Given the description of an element on the screen output the (x, y) to click on. 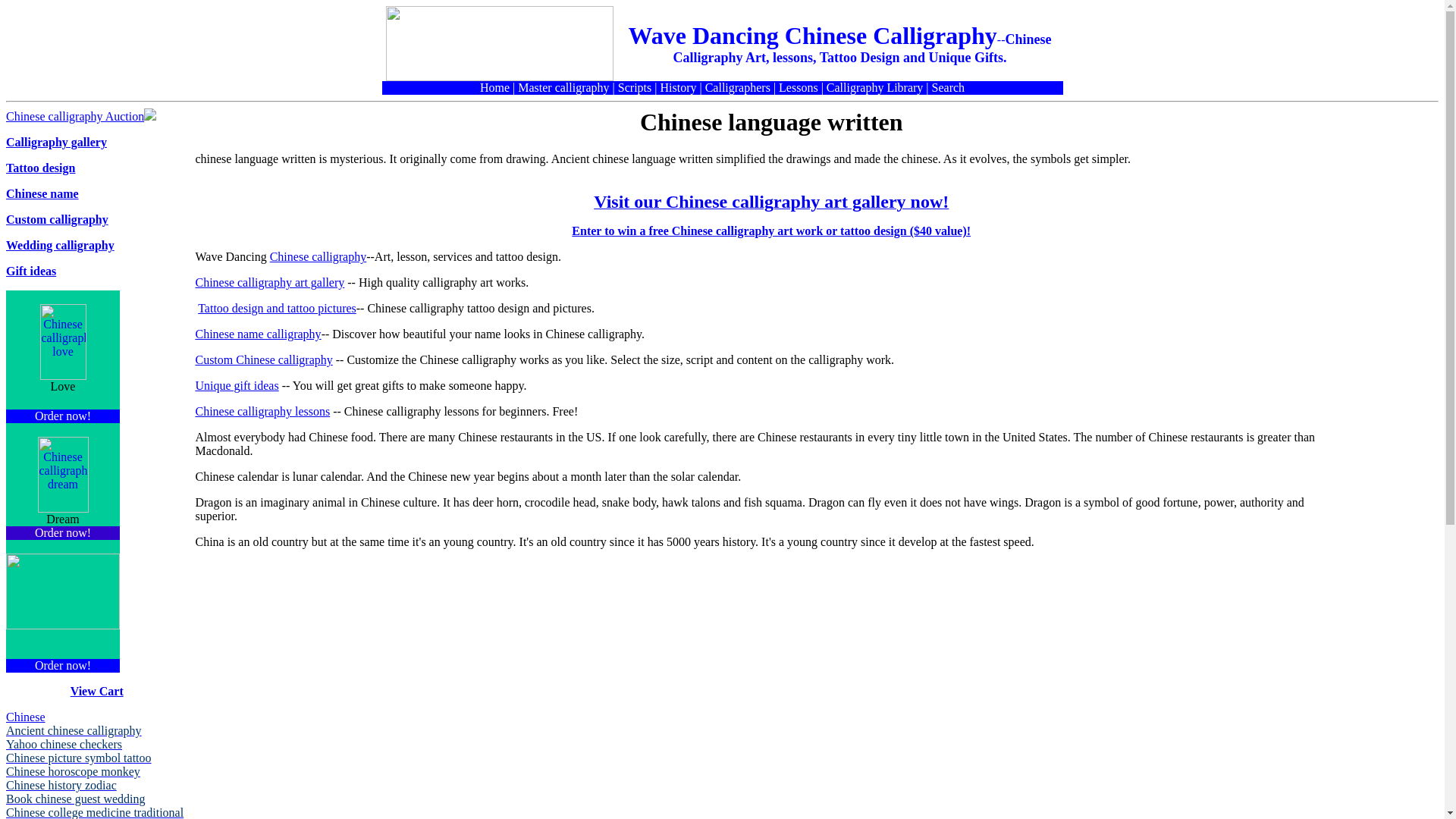
Yahoo chinese checkers (63, 744)
Chinese horoscope monkey (72, 771)
Chinese history zodiac (60, 784)
History (677, 87)
Order now! (62, 532)
Chinese name (41, 193)
Chinese calligraphy Auction (74, 115)
Order now! (62, 415)
Search (948, 87)
Chinese college medicine traditional (94, 812)
